Given the description of an element on the screen output the (x, y) to click on. 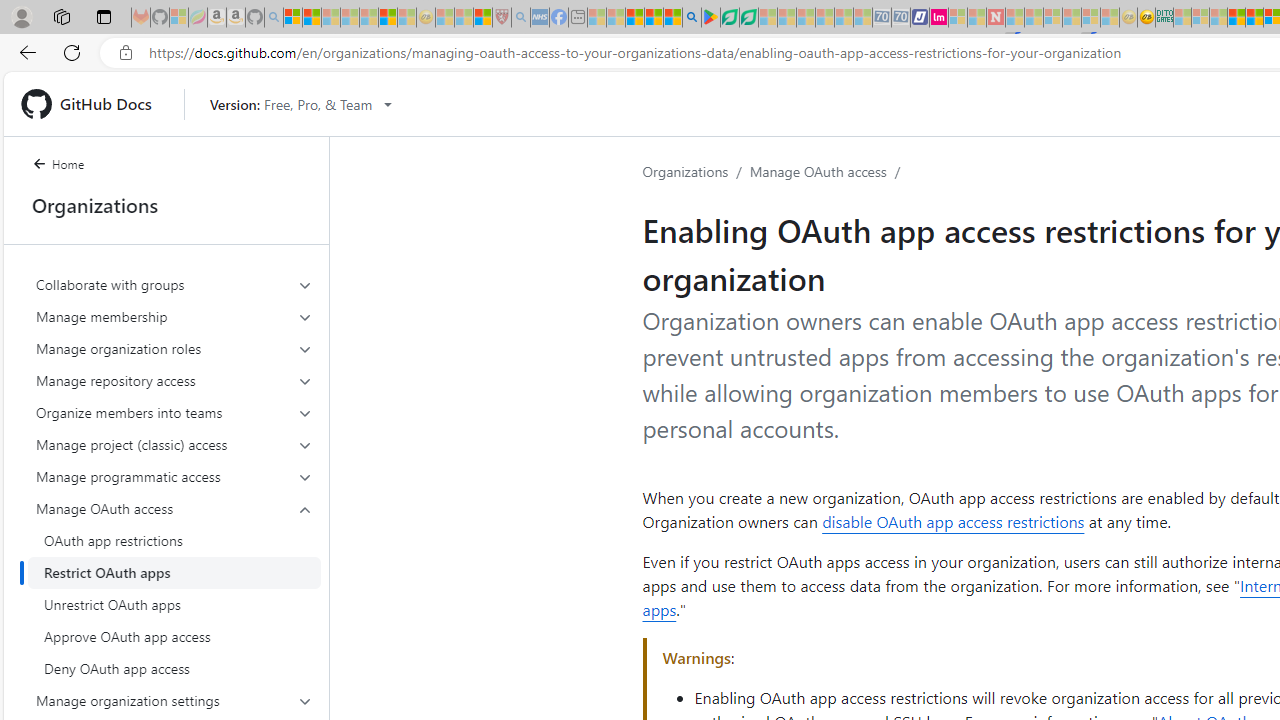
Manage programmatic access (174, 476)
